Given the description of an element on the screen output the (x, y) to click on. 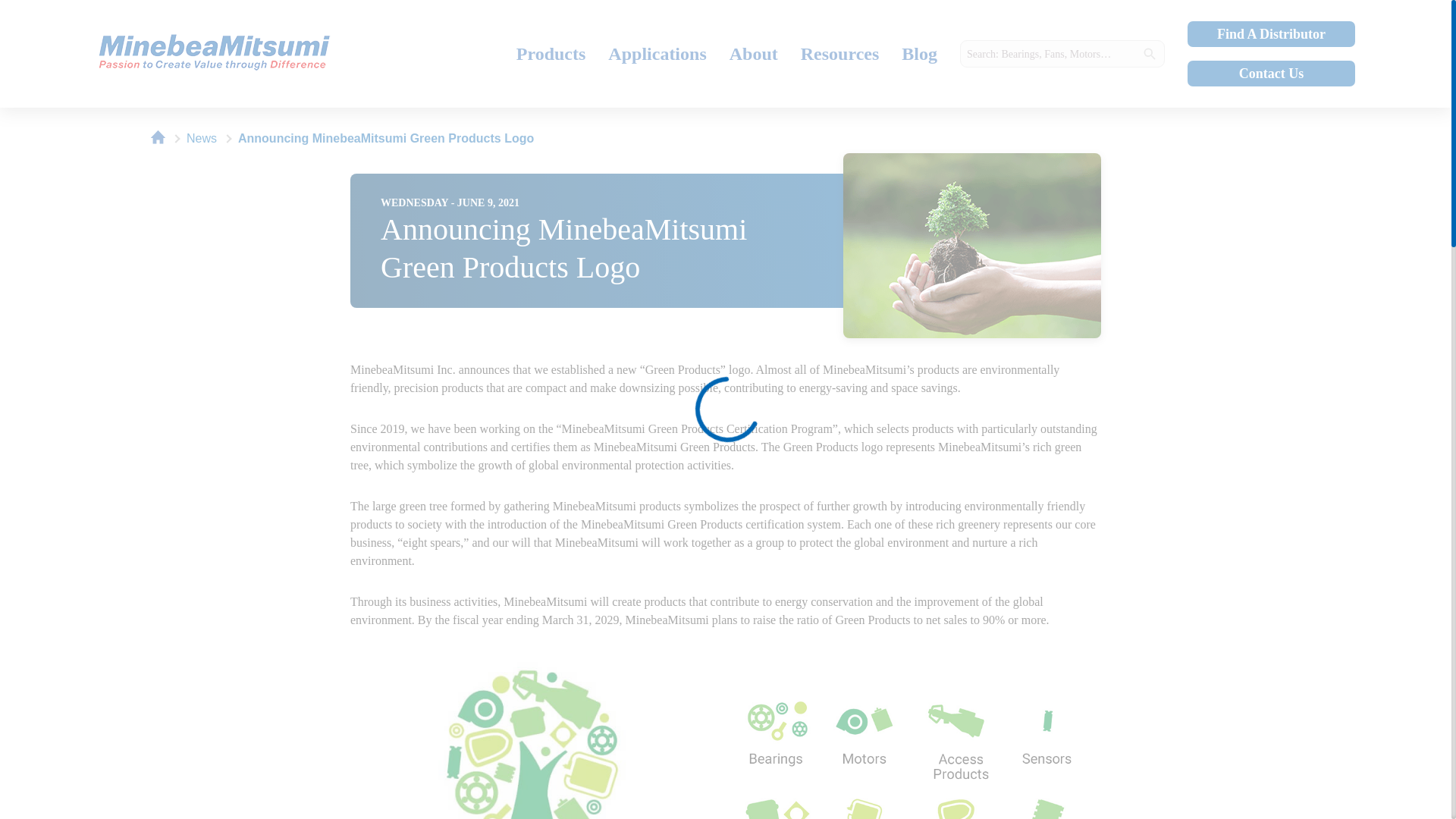
Products (551, 53)
Announcing MinebeaMitsumi Green Products Logo (244, 53)
News (205, 138)
NMB Technologies (162, 138)
